Given the description of an element on the screen output the (x, y) to click on. 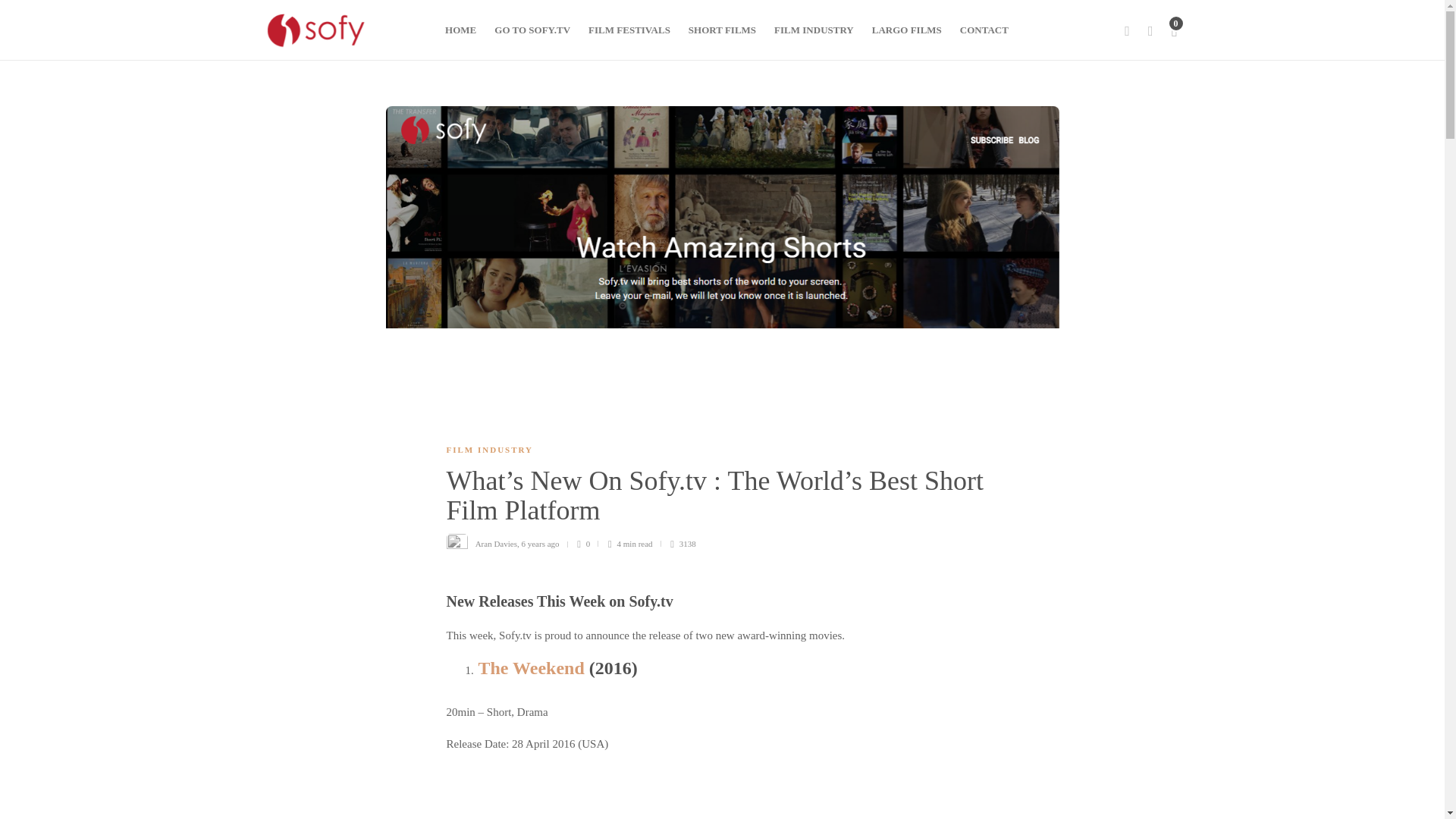
GO TO SOFY.TV (532, 29)
The Weekend (530, 668)
FILM FESTIVALS (628, 29)
0 (586, 544)
FILM INDUSTRY (813, 29)
Aran Davies (496, 542)
SHORT FILMS (721, 29)
Advertisement (751, 792)
6 years ago (540, 542)
LARGO FILMS (907, 29)
